Given the description of an element on the screen output the (x, y) to click on. 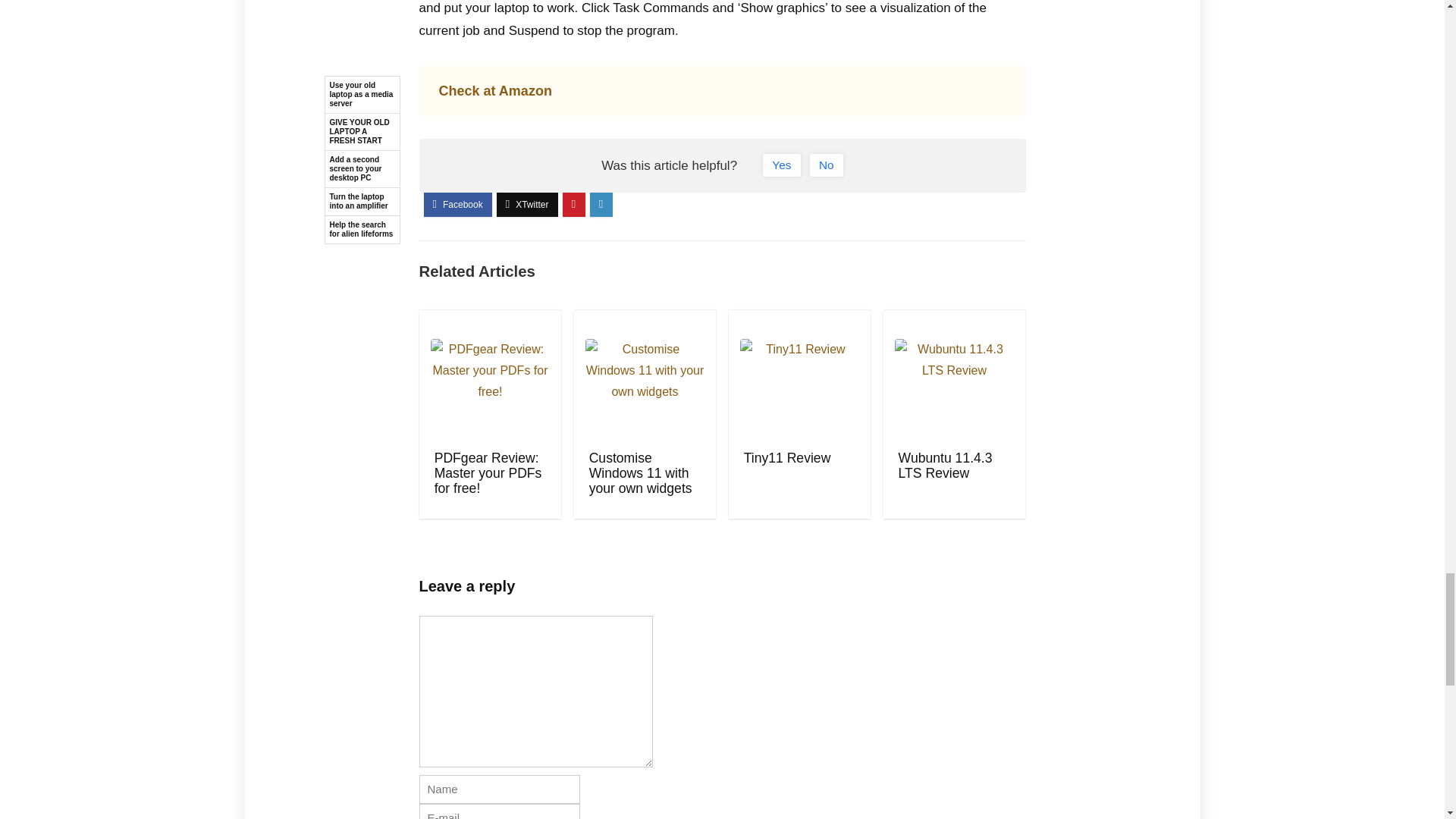
PDFgear Review: Master your PDFs for free! (487, 473)
Tiny11 Review (787, 458)
Check at Amazon (494, 90)
Wubuntu 11.4.3 LTS Review (945, 465)
Customise Windows 11 with your own widgets (641, 473)
